Given the description of an element on the screen output the (x, y) to click on. 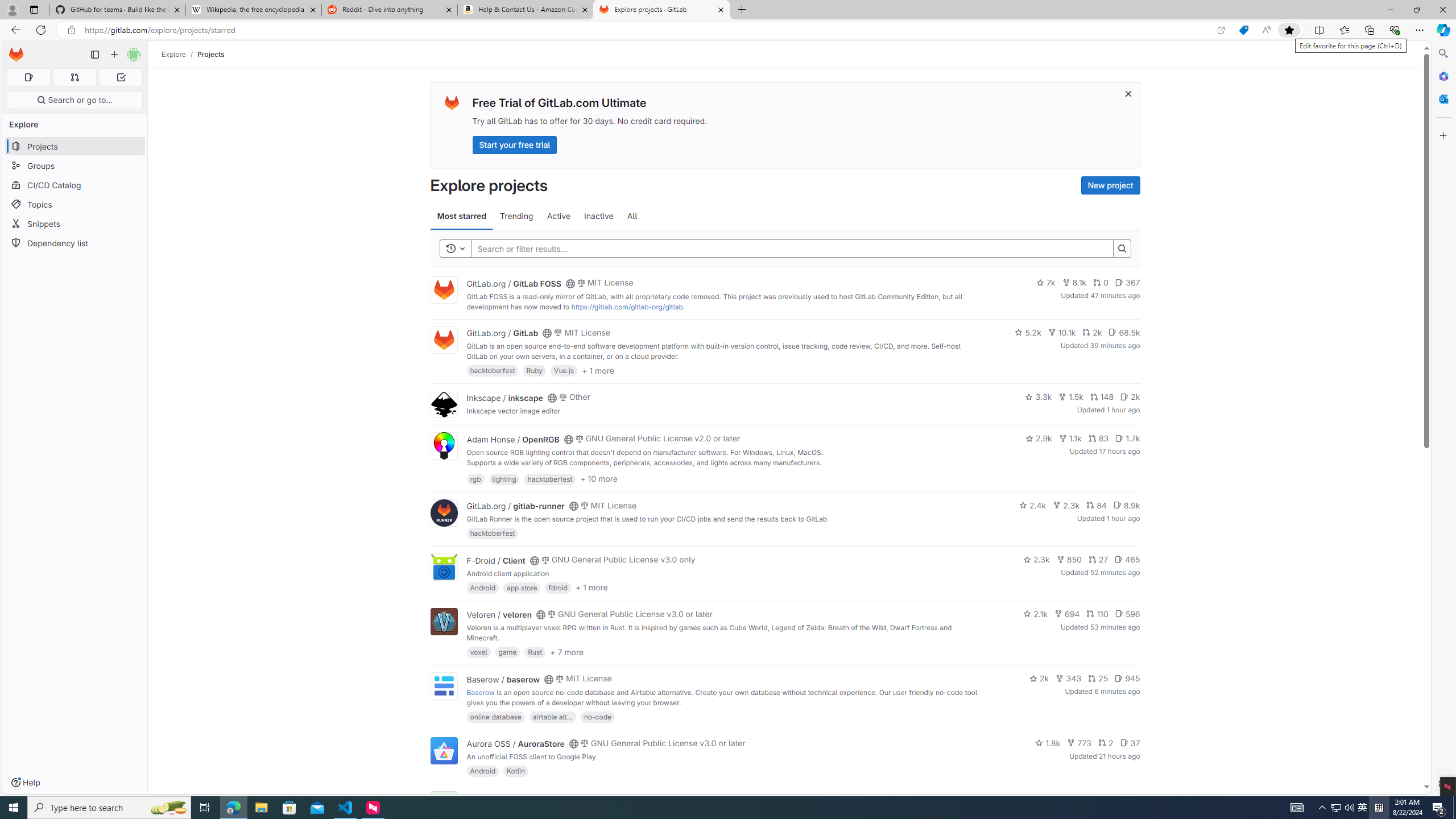
https://gitlab.com/gitlab-org/gitlab (626, 306)
8.9k (1126, 504)
596 (1127, 613)
New project (1110, 185)
1.1k (1069, 438)
Start your free trial (514, 144)
0 (1100, 282)
Primary navigation sidebar (94, 54)
https://openrgb.org (563, 472)
